Given the description of an element on the screen output the (x, y) to click on. 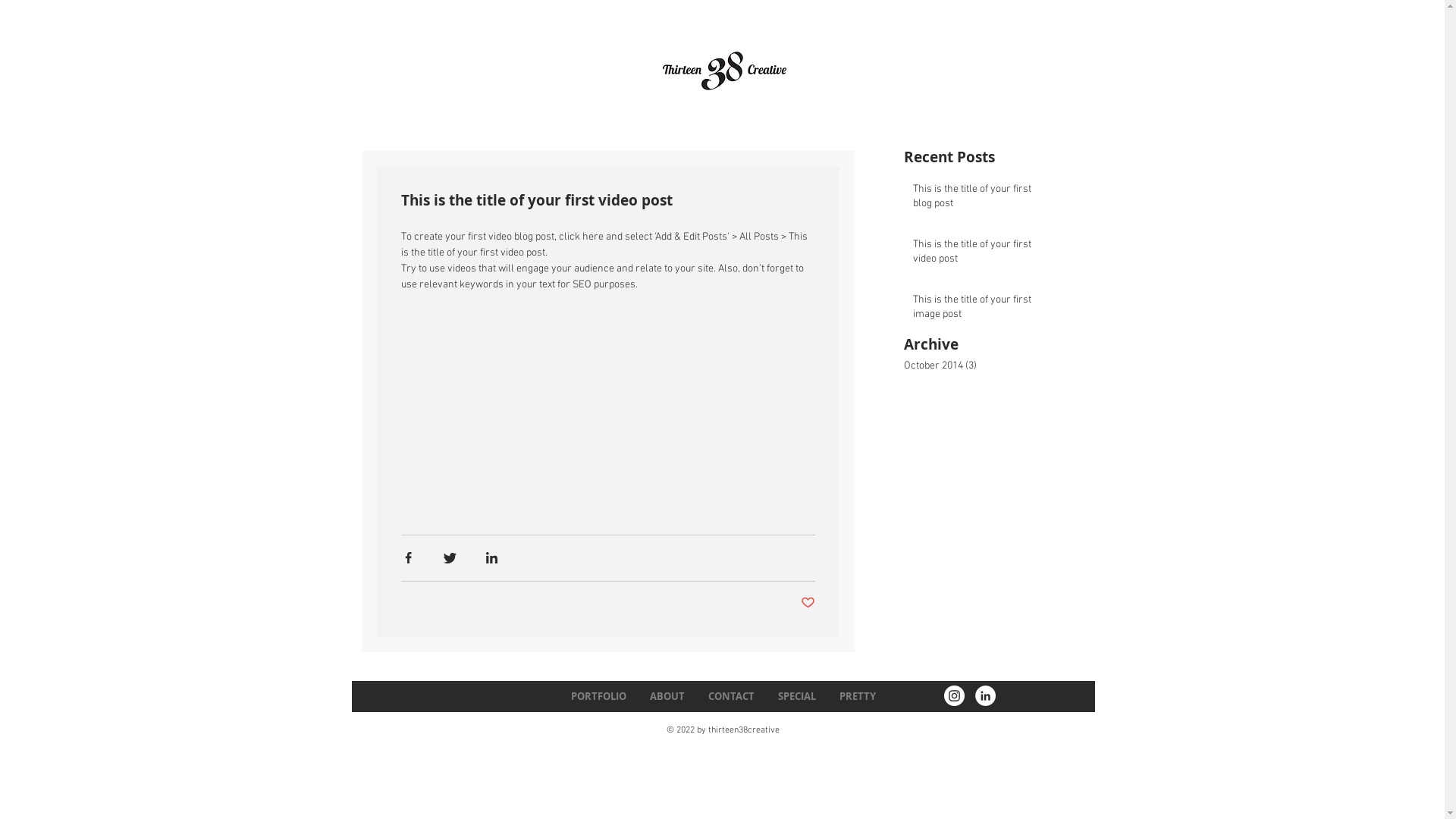
This is the title of your first video post Element type: text (982, 255)
This is the title of your first image post Element type: text (982, 310)
October 2014 (3) Element type: text (983, 365)
ABOUT Element type: text (666, 696)
CONTACT Element type: text (730, 696)
PRETTY Element type: text (857, 696)
PORTFOLIO Element type: text (597, 696)
SPECIAL Element type: text (796, 696)
Post not marked as liked Element type: text (807, 603)
Logo.jpg Element type: hover (724, 70)
This is the title of your first blog post Element type: text (982, 199)
